Given the description of an element on the screen output the (x, y) to click on. 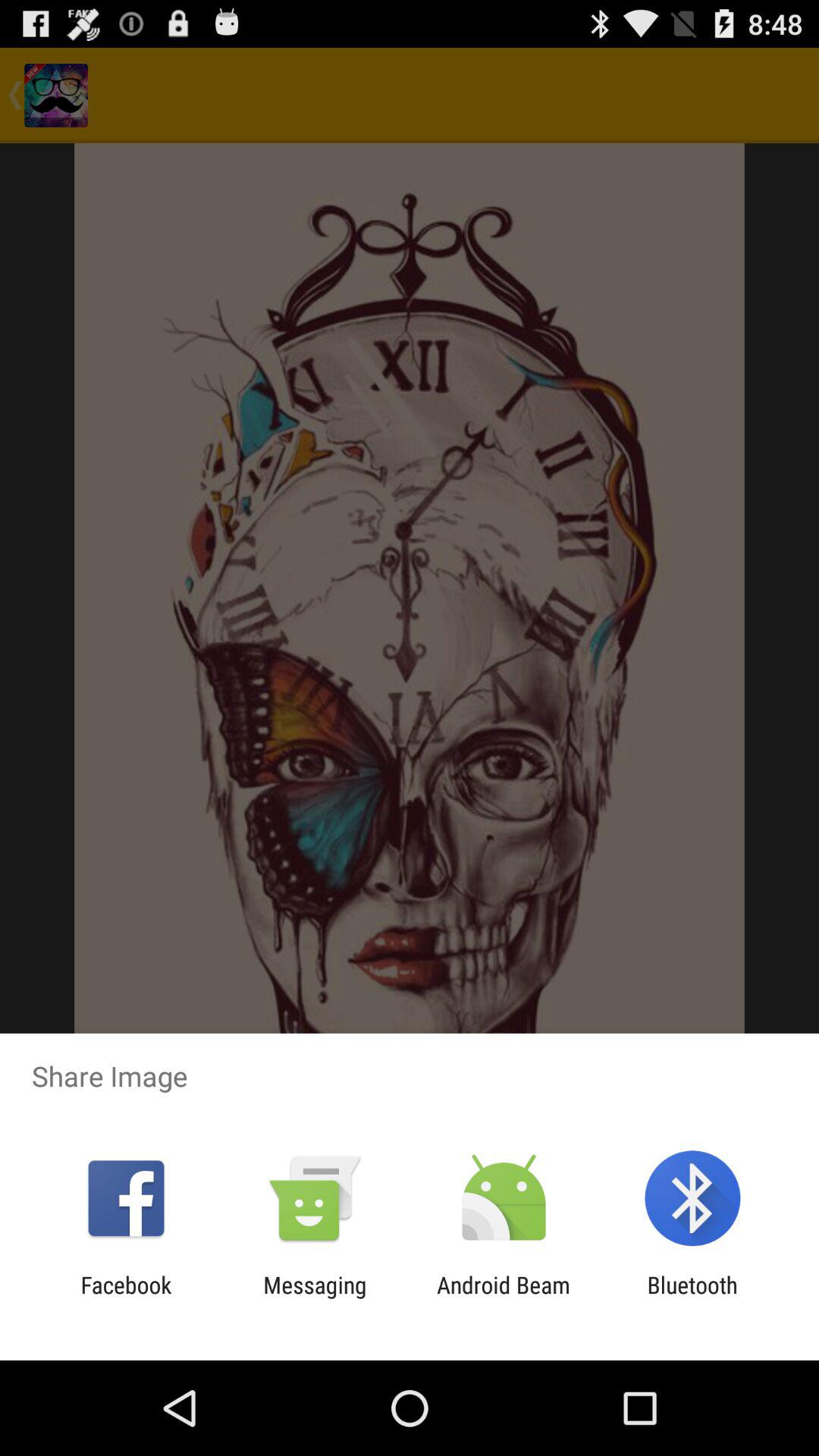
turn off the item to the left of messaging icon (125, 1298)
